Given the description of an element on the screen output the (x, y) to click on. 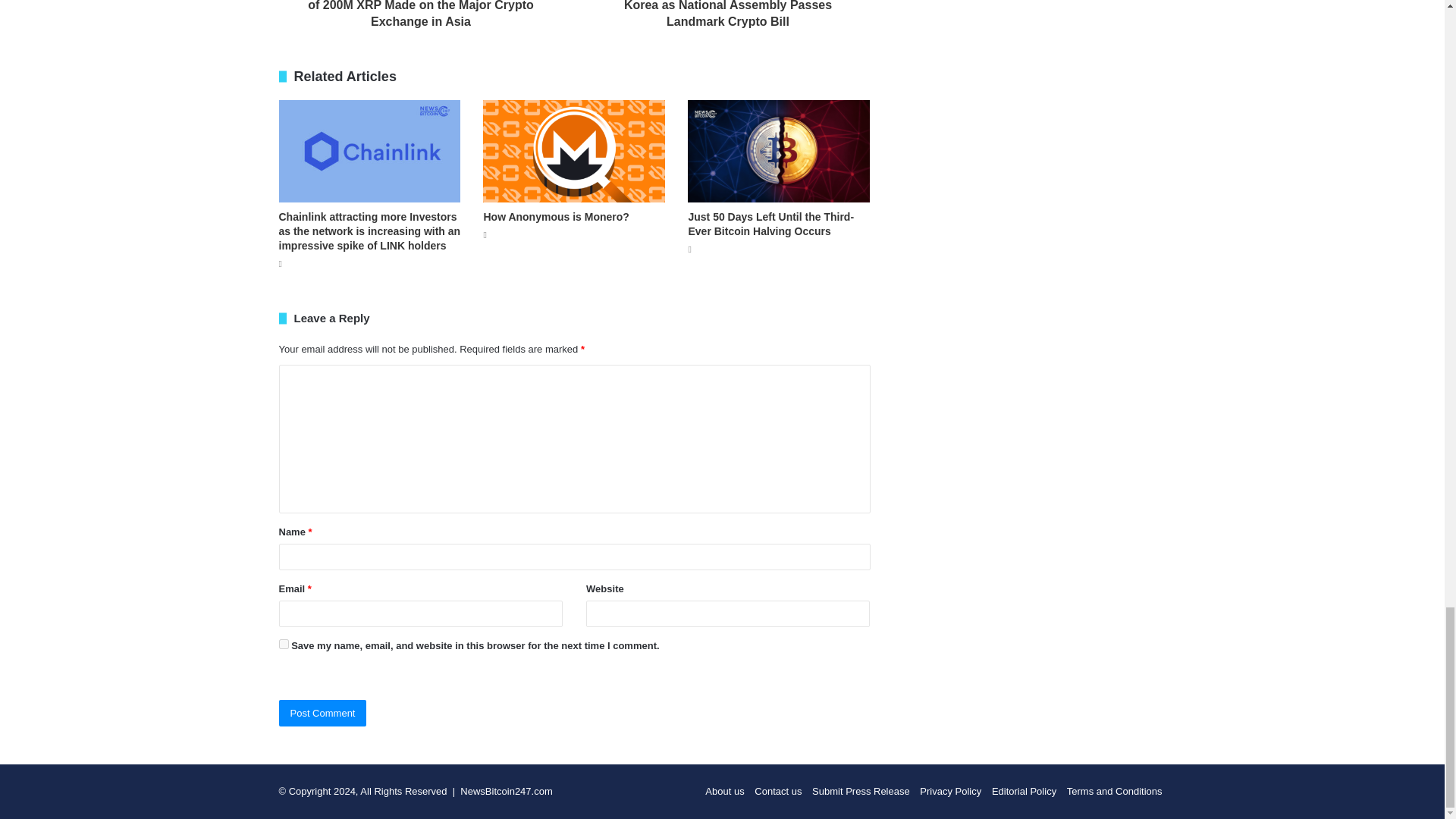
Post Comment (322, 713)
yes (283, 644)
